Given the description of an element on the screen output the (x, y) to click on. 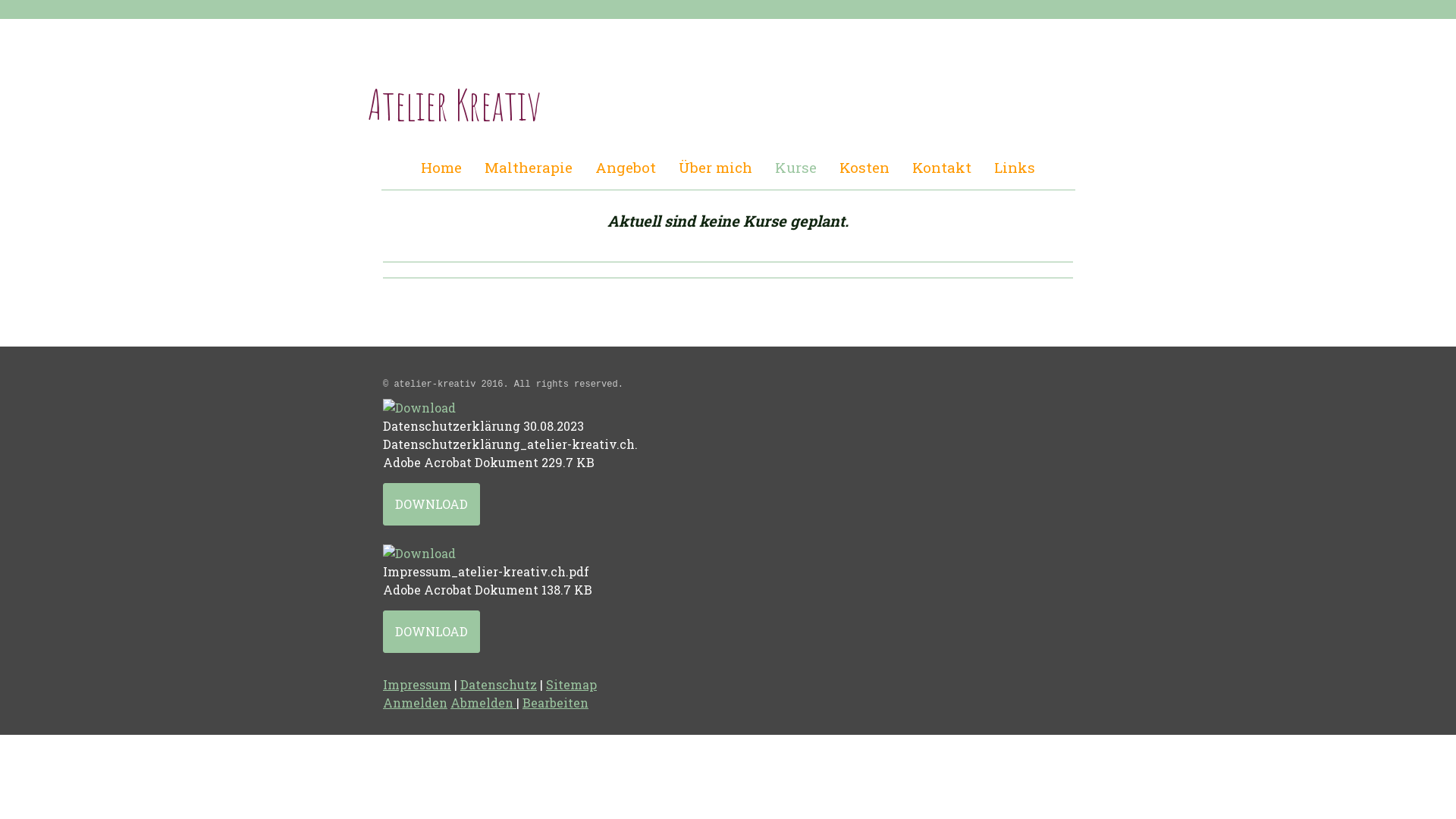
DOWNLOAD Element type: text (431, 631)
Abmelden Element type: text (483, 702)
Kontakt Element type: text (941, 167)
Kurse Element type: text (795, 167)
Maltherapie Element type: text (528, 167)
Kosten Element type: text (864, 167)
Anmelden Element type: text (414, 702)
Links Element type: text (1014, 167)
Home Element type: text (441, 167)
Bearbeiten Element type: text (555, 702)
Impressum Element type: text (416, 684)
Atelier Kreativ Element type: text (454, 115)
Angebot Element type: text (625, 167)
Sitemap Element type: text (571, 684)
Datenschutz Element type: text (498, 684)
DOWNLOAD Element type: text (431, 504)
